Given the description of an element on the screen output the (x, y) to click on. 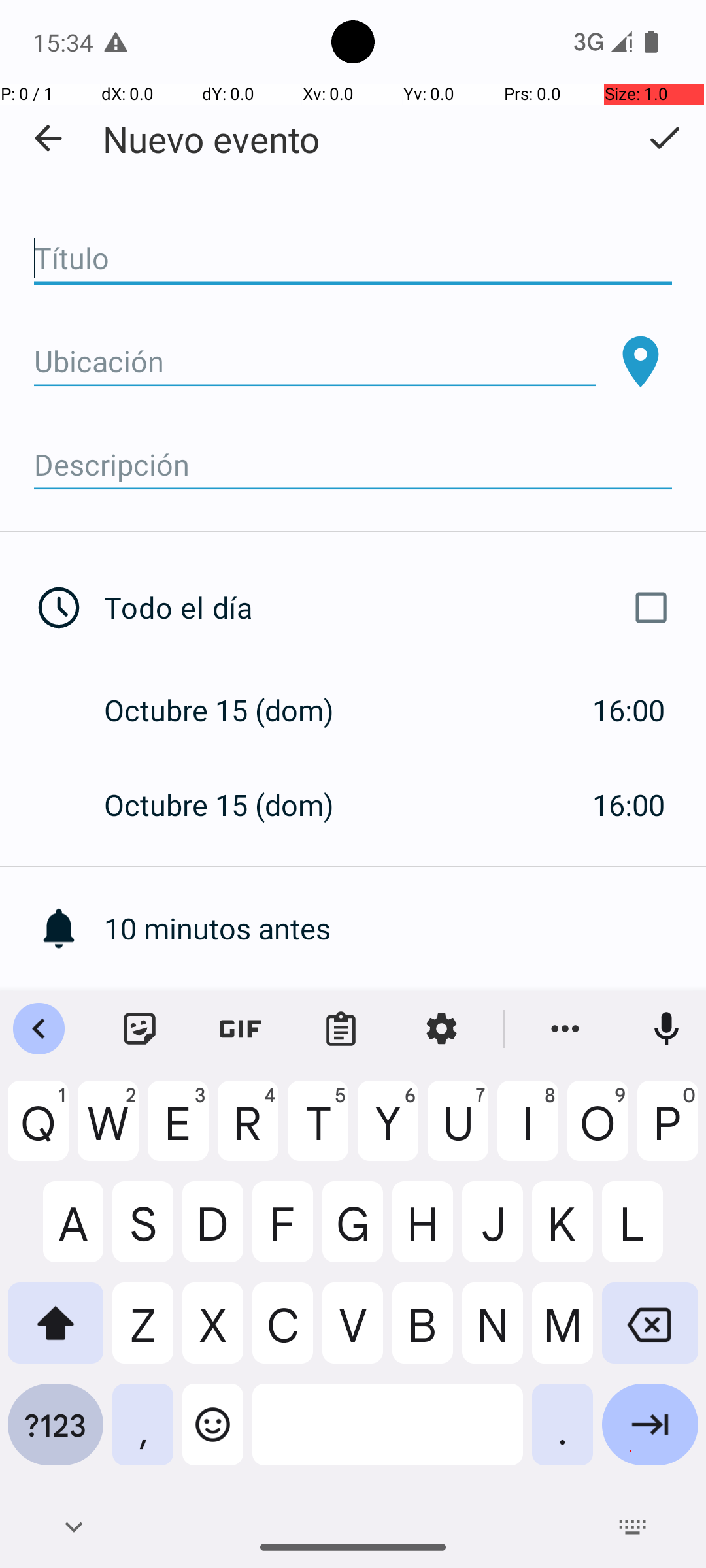
Título Element type: android.widget.EditText (352, 258)
Ubicación Element type: android.widget.EditText (314, 361)
Descripción Element type: android.widget.EditText (352, 465)
